Given the description of an element on the screen output the (x, y) to click on. 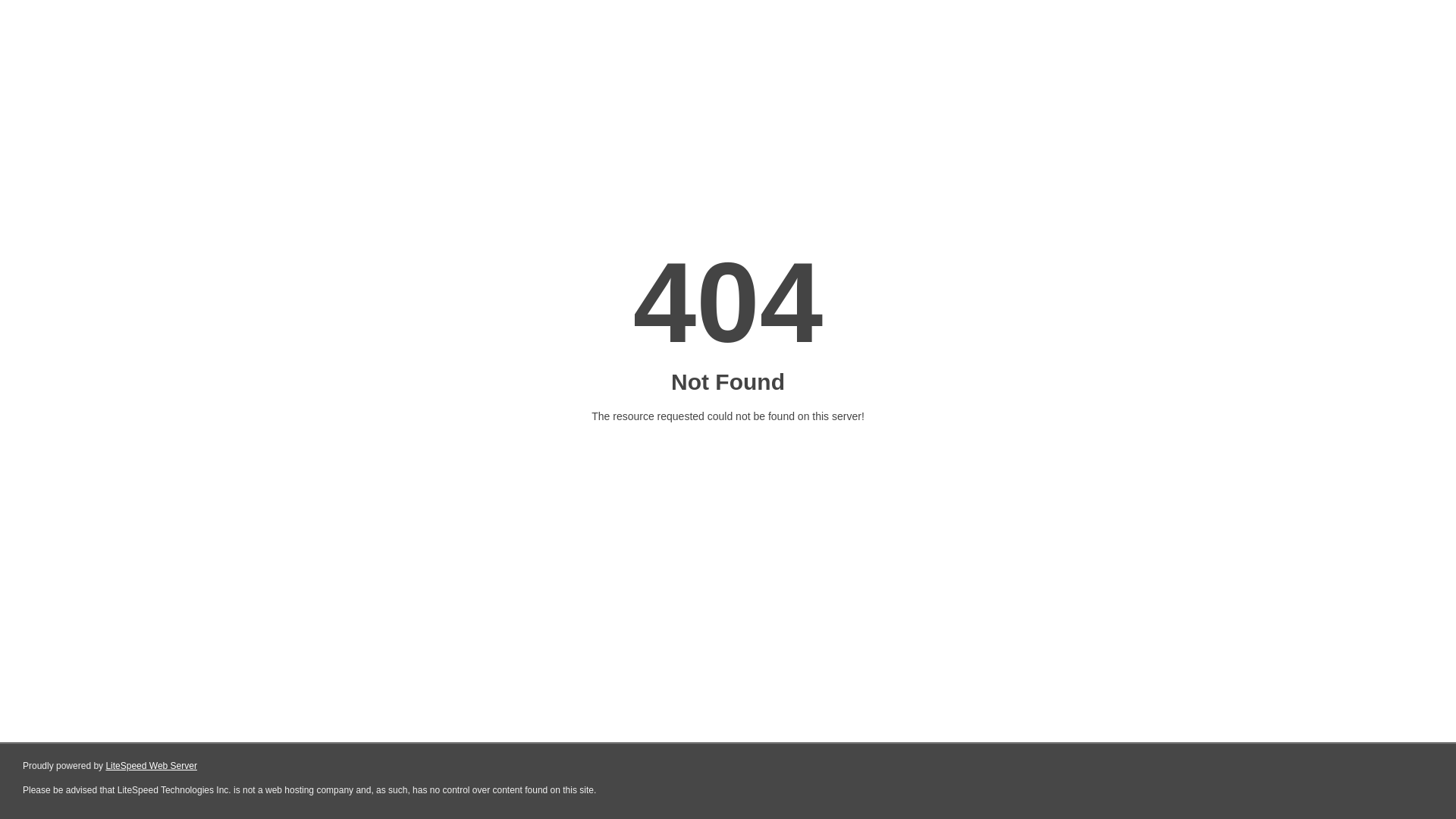
LiteSpeed Web Server Element type: text (151, 765)
